Given the description of an element on the screen output the (x, y) to click on. 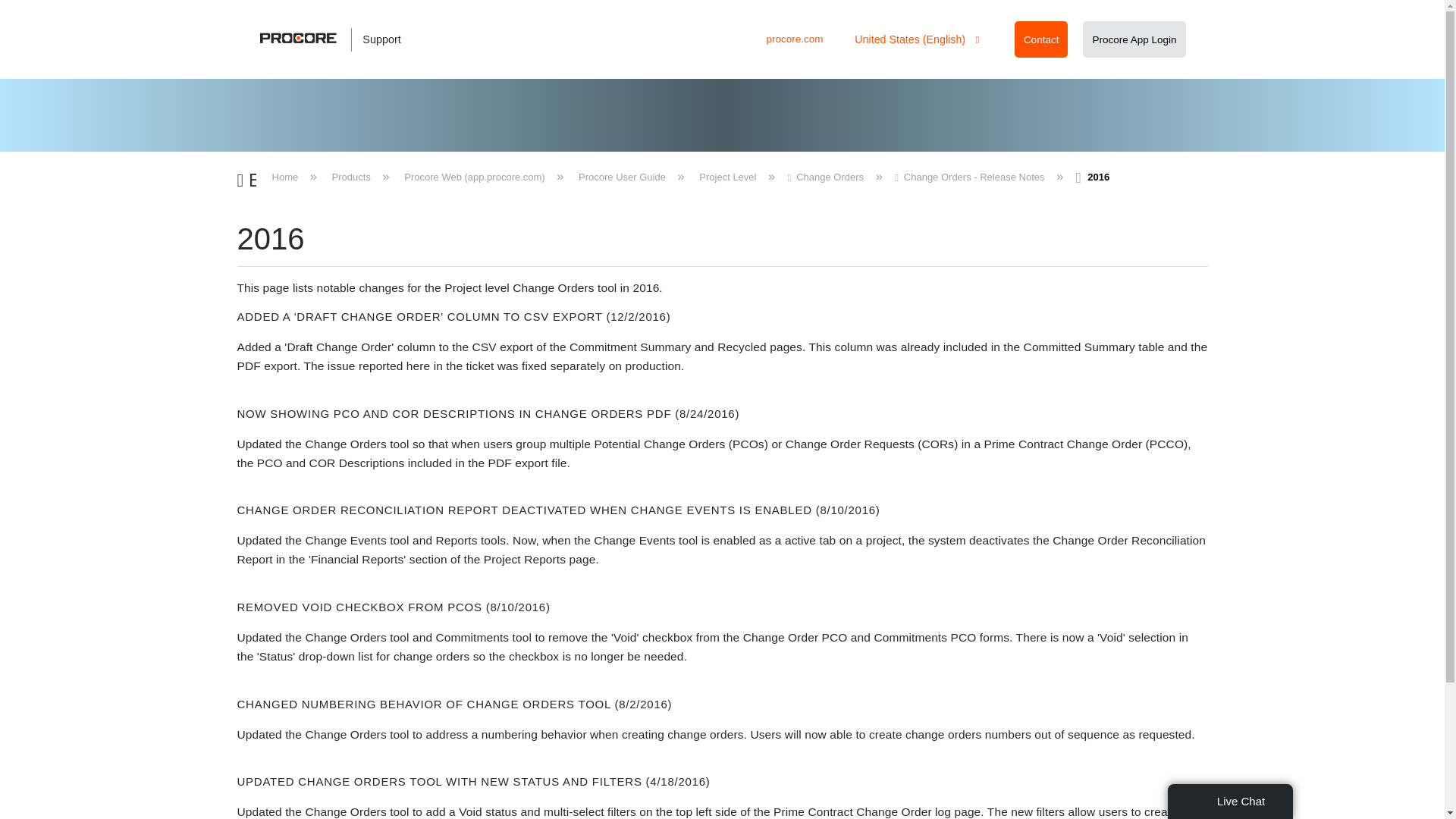
Support (338, 38)
Live Chat (1229, 801)
Procore User Guide (622, 176)
procore.com (793, 39)
Change Orders - Release Notes (970, 176)
Procore App Login (1134, 39)
Home (285, 176)
Contact (1041, 39)
Project Level (727, 176)
Products (350, 176)
